Given the description of an element on the screen output the (x, y) to click on. 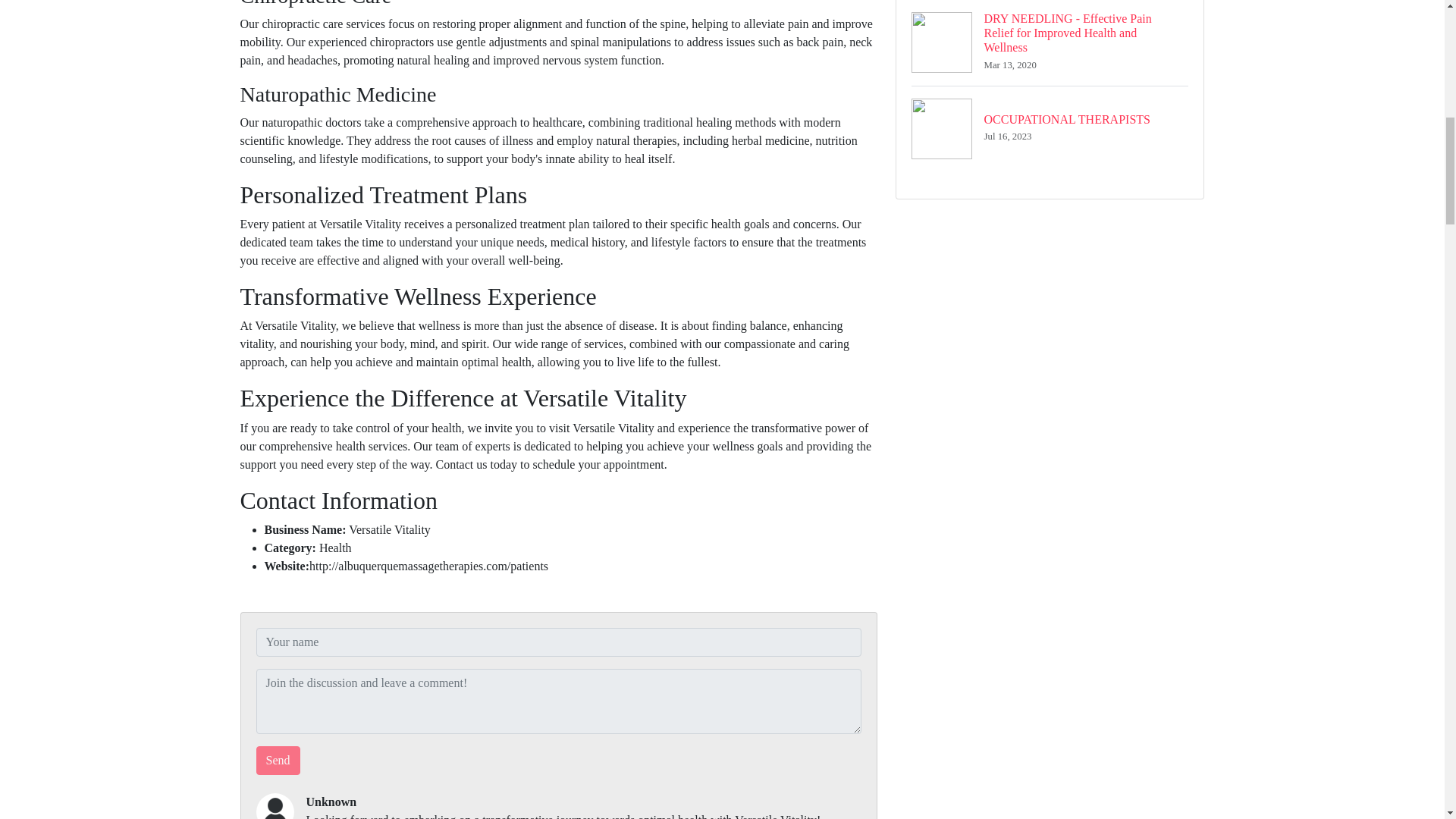
Send (1050, 128)
Send (277, 760)
